Given the description of an element on the screen output the (x, y) to click on. 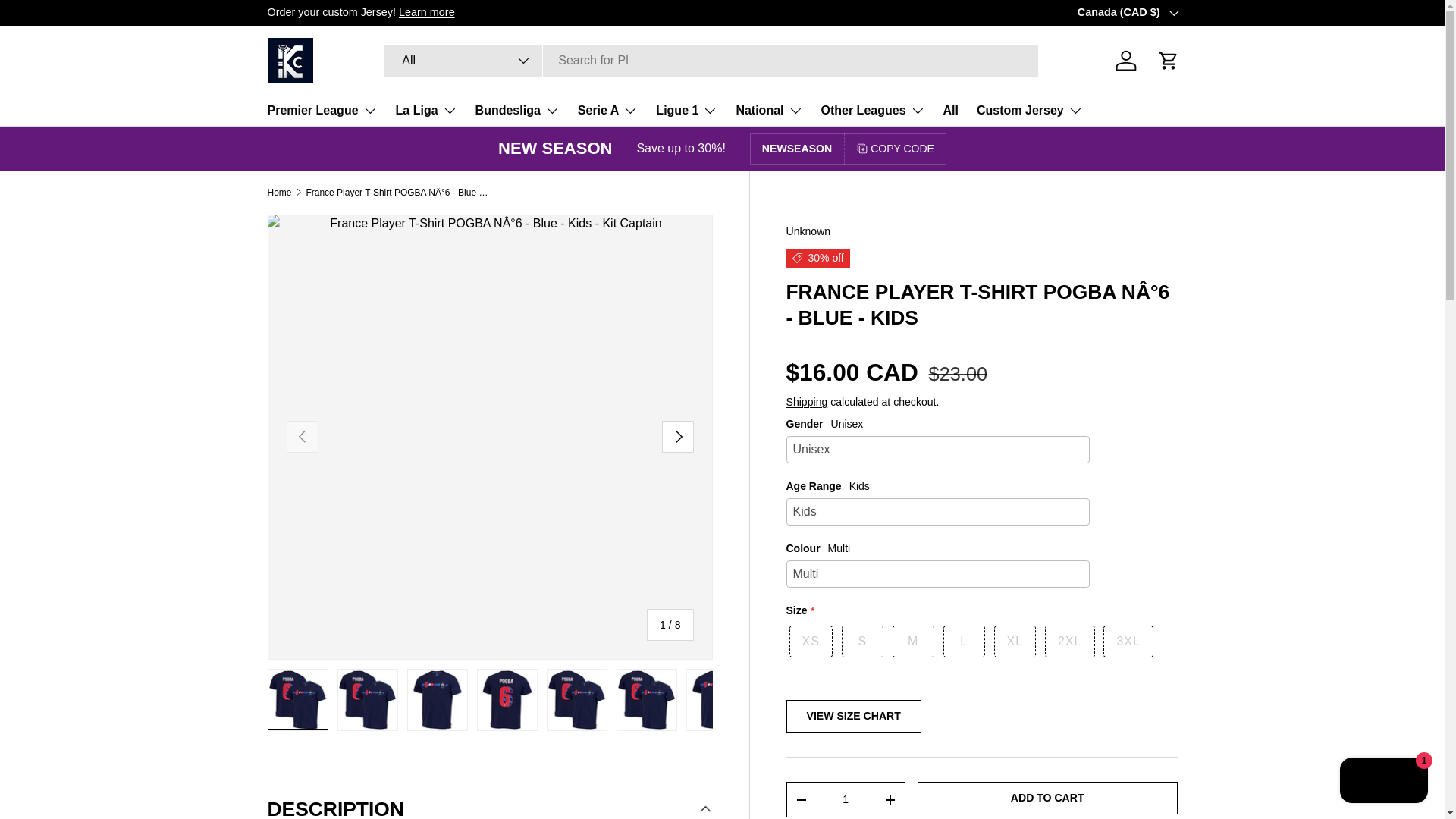
La Liga (426, 110)
Learn more (426, 11)
SKIP TO CONTENT (68, 21)
1 (845, 798)
Cart (1168, 60)
All (463, 60)
Log in (1124, 60)
Premier League (321, 110)
Bundesliga (517, 110)
Shopify online store chat (1383, 781)
Custom Order (426, 11)
